Given the description of an element on the screen output the (x, y) to click on. 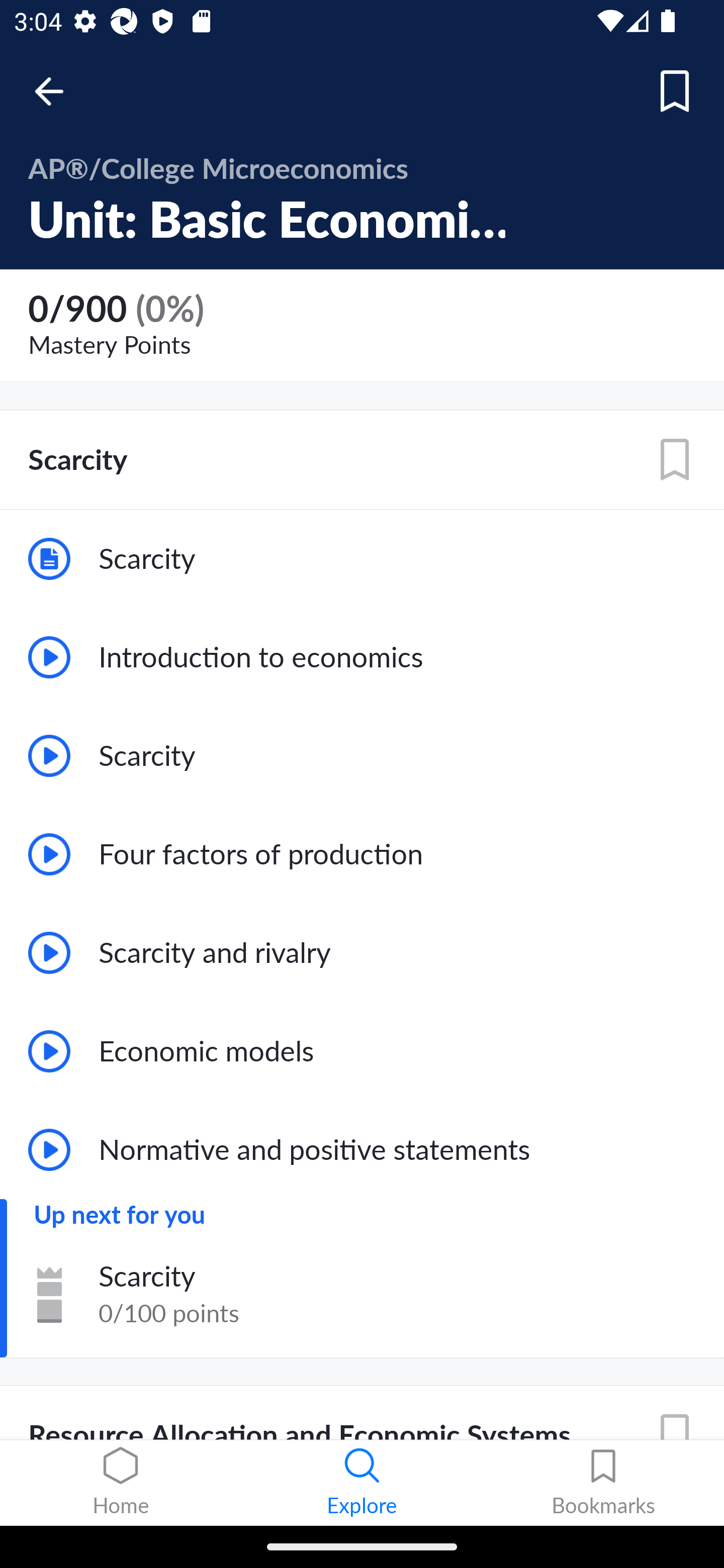
Back (58, 91)
Add Bookmark (674, 91)
Add Bookmark (674, 460)
Scarcity (362, 558)
Introduction to economics (362, 657)
Scarcity (362, 755)
Four factors of production (362, 853)
Scarcity and rivalry (362, 952)
Economic models (362, 1050)
Normative and positive statements (362, 1149)
Scarcity 0/100 points (362, 1293)
Home (120, 1482)
Explore (361, 1482)
Bookmarks (603, 1482)
